Given the description of an element on the screen output the (x, y) to click on. 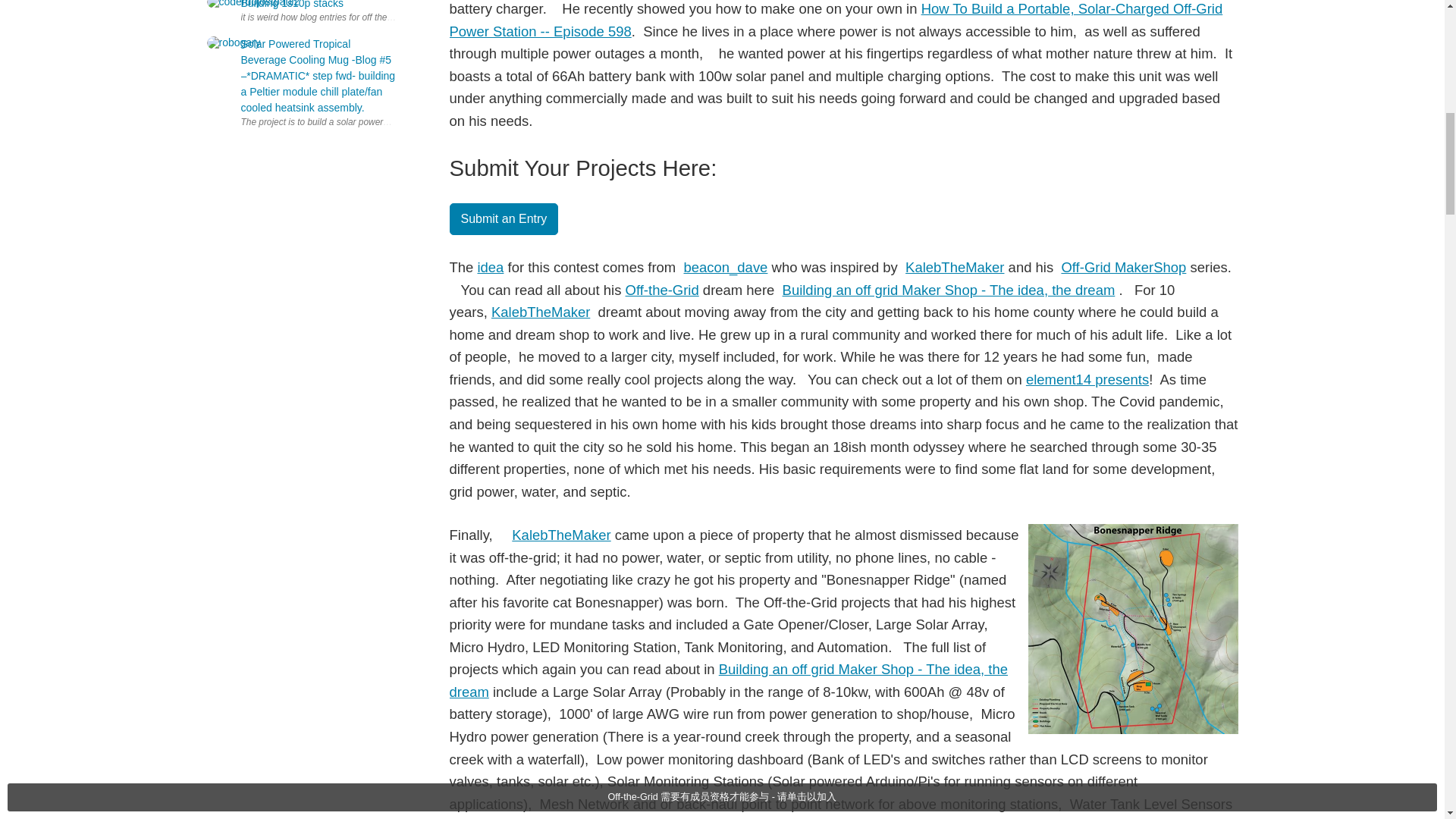
Submit an Entry (502, 219)
